Given the description of an element on the screen output the (x, y) to click on. 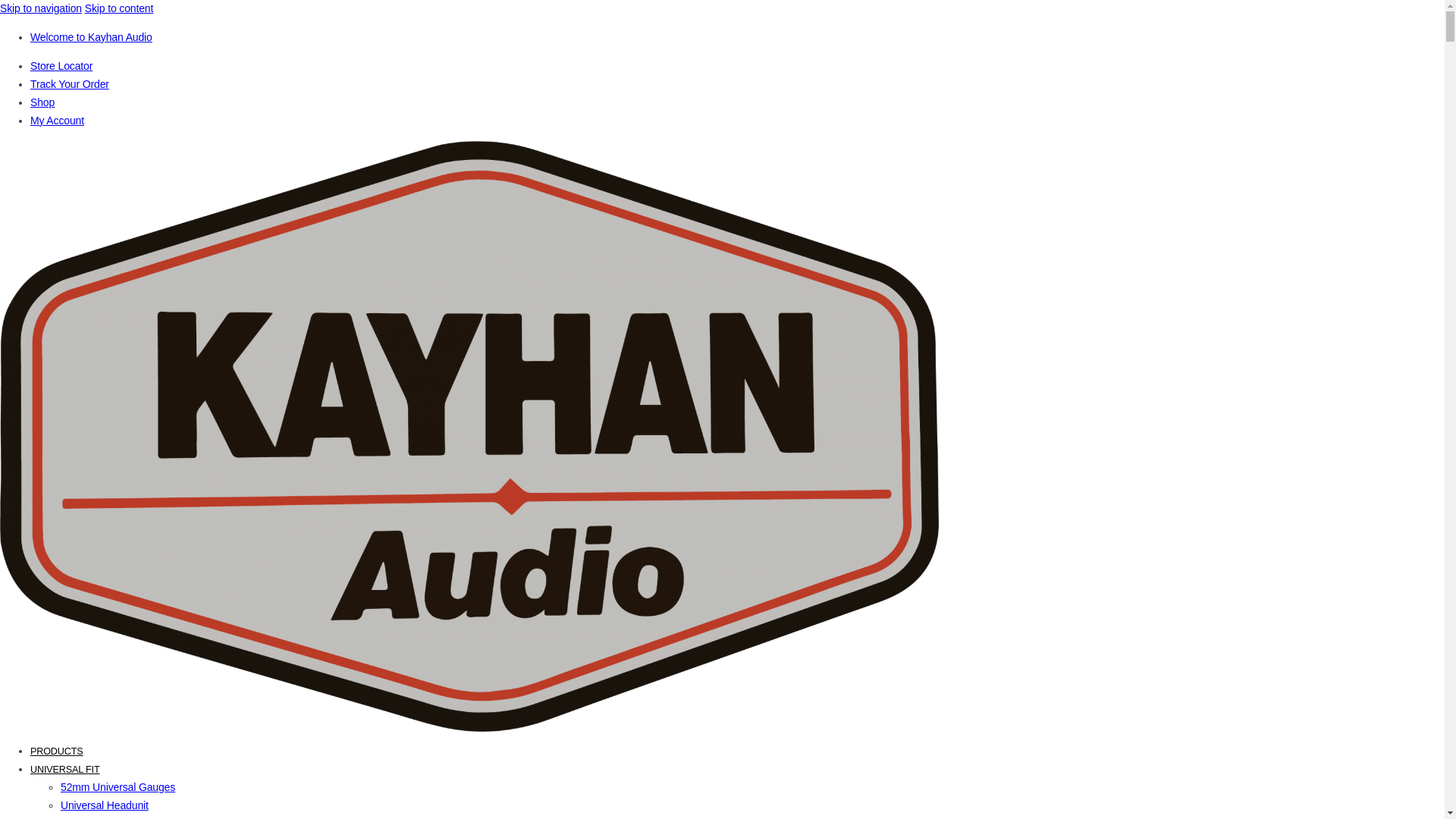
52mm Universal Gauges Element type: text (117, 787)
My Account Element type: text (57, 120)
Shop Element type: text (42, 102)
PRODUCTS Element type: text (56, 751)
Skip to content Element type: text (118, 8)
Skip to navigation Element type: text (40, 8)
Welcome to Kayhan Audio Element type: text (91, 37)
Universal Headunit Element type: text (104, 805)
Store Locator Element type: text (61, 65)
Track Your Order Element type: text (69, 84)
UNIVERSAL FIT Element type: text (64, 769)
